Given the description of an element on the screen output the (x, y) to click on. 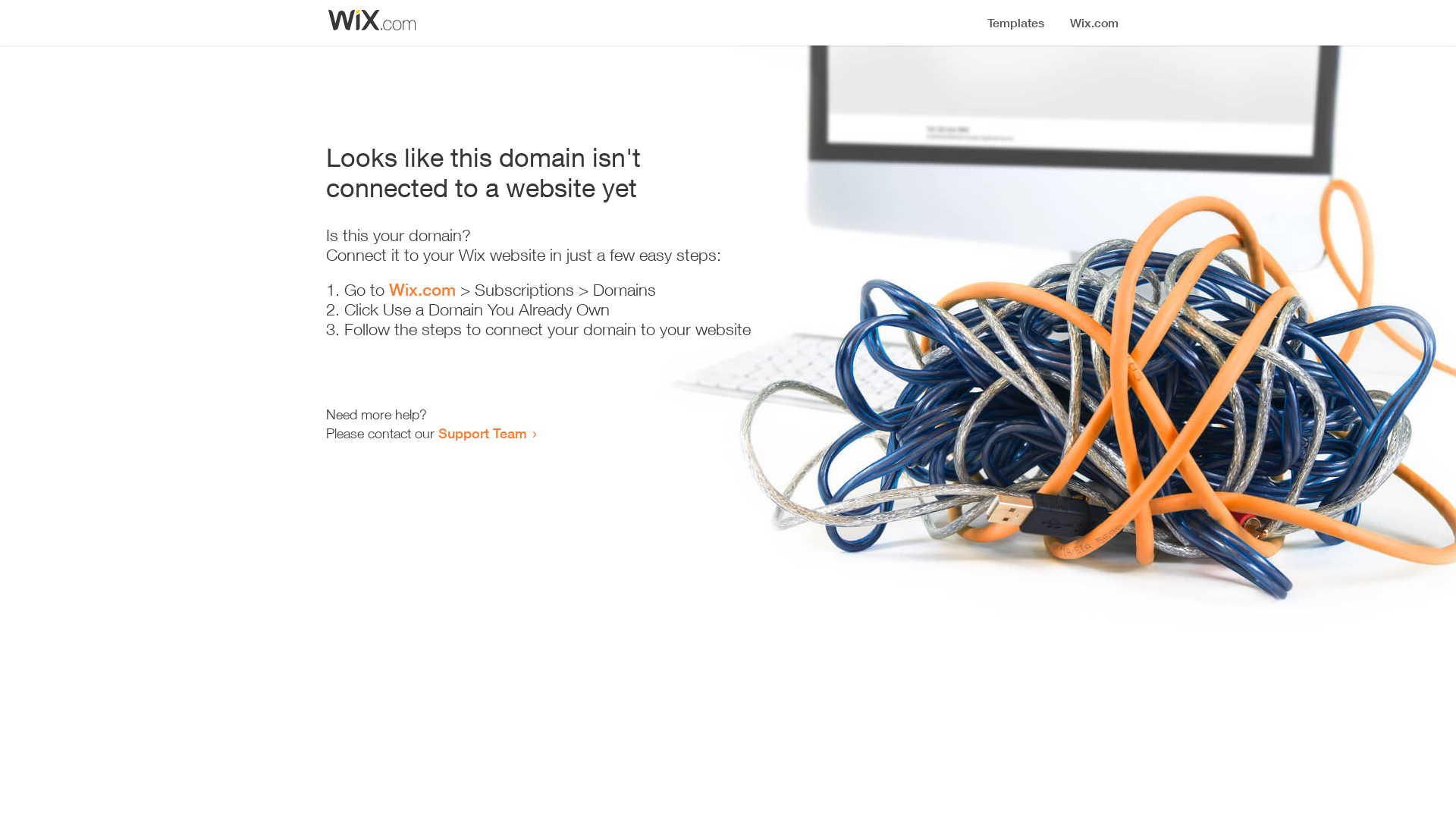
Wix.com Element type: text (422, 289)
Support Team Element type: text (482, 432)
